Given the description of an element on the screen output the (x, y) to click on. 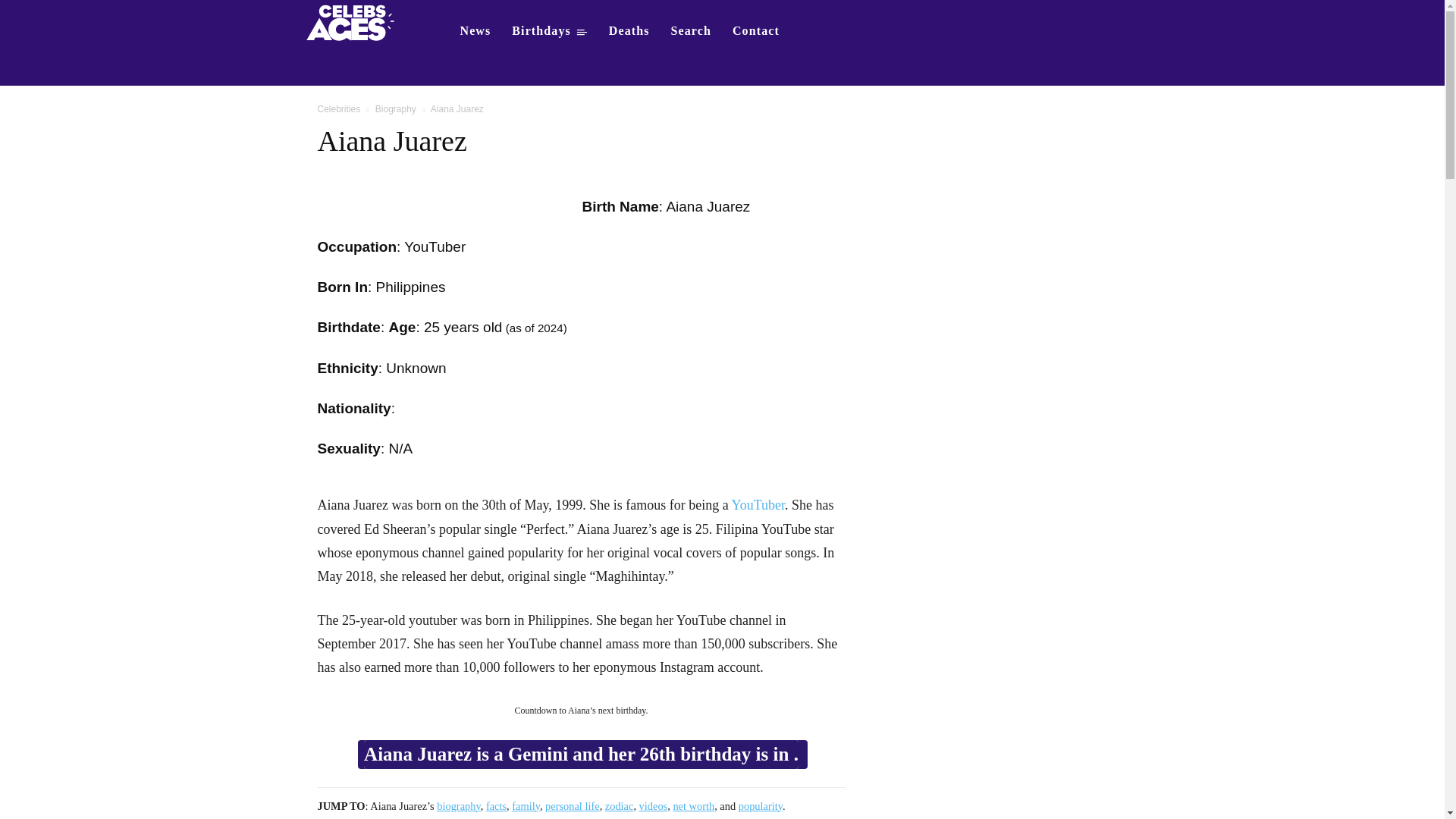
Celebrities (338, 109)
zodiac (619, 806)
net worth (693, 806)
facts (496, 806)
biography (458, 806)
News (474, 31)
family (526, 806)
YouTuber (759, 504)
Celebs News (474, 31)
personal life (571, 806)
